Given the description of an element on the screen output the (x, y) to click on. 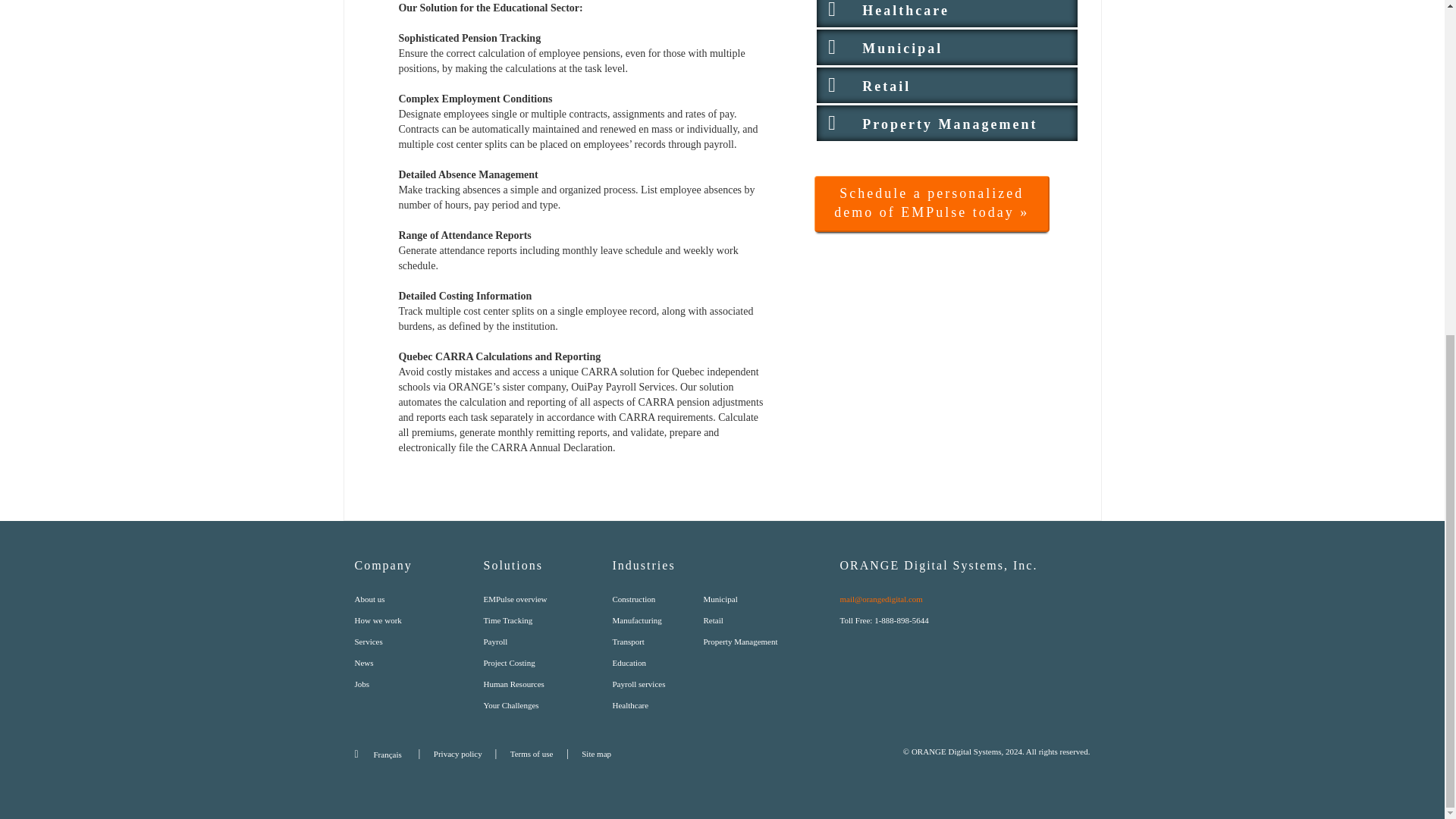
How we work (378, 619)
Transport (628, 641)
Manufacturing (637, 619)
Healthcare (946, 10)
Construction (634, 598)
Time Tracking (507, 619)
Project Costing (509, 662)
Industries (726, 573)
About us (370, 598)
Jobs (362, 683)
Municipal (946, 43)
Property Management (946, 120)
Education (629, 662)
Your Challenges (510, 705)
Payroll (495, 641)
